Given the description of an element on the screen output the (x, y) to click on. 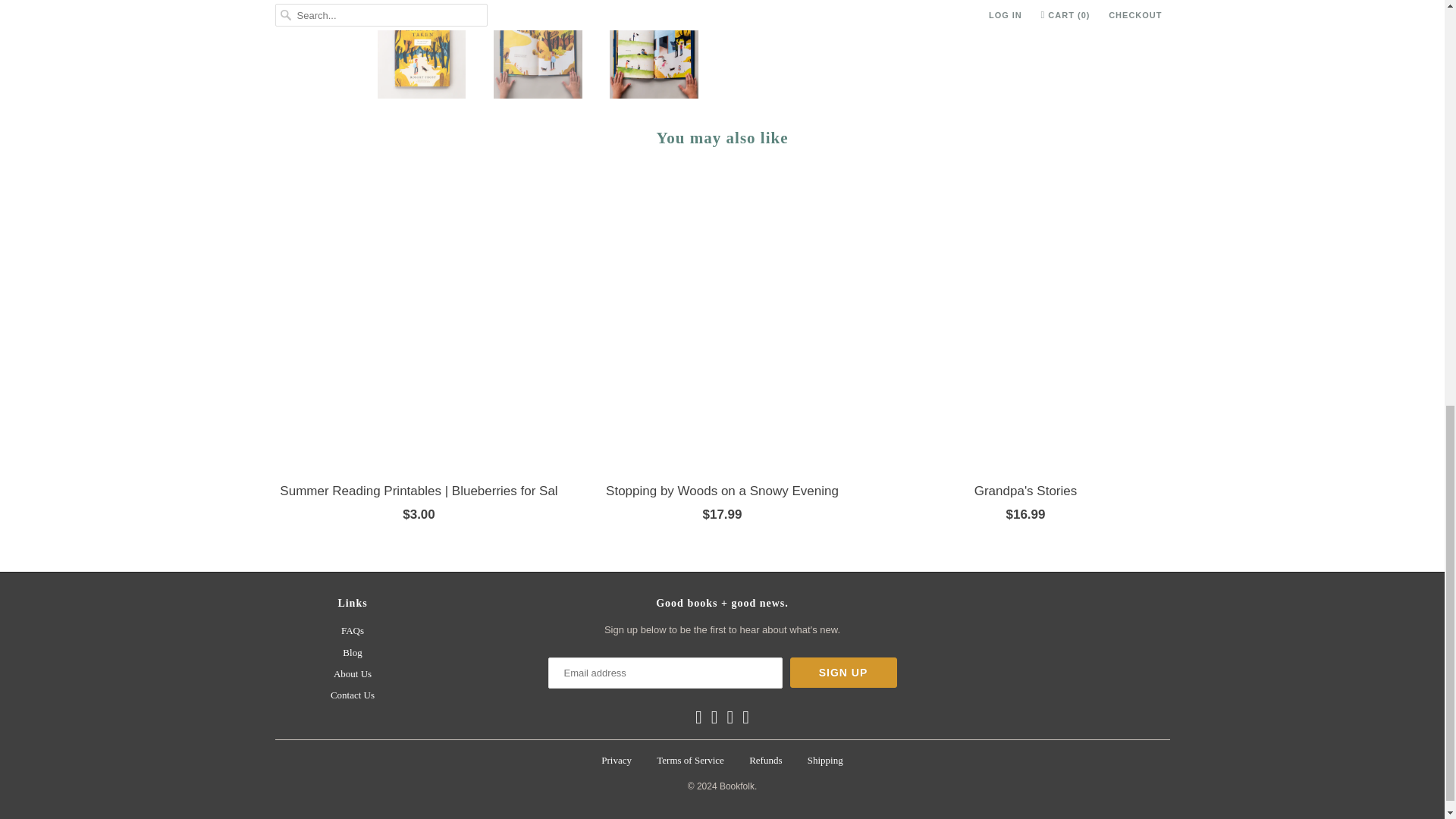
Bookfolk on Instagram (730, 717)
Blog (351, 652)
Email Bookfolk (745, 717)
FAQs (352, 630)
Bookfolk on Pinterest (714, 717)
Sign Up (843, 672)
Bookfolk on Facebook (698, 717)
